Given the description of an element on the screen output the (x, y) to click on. 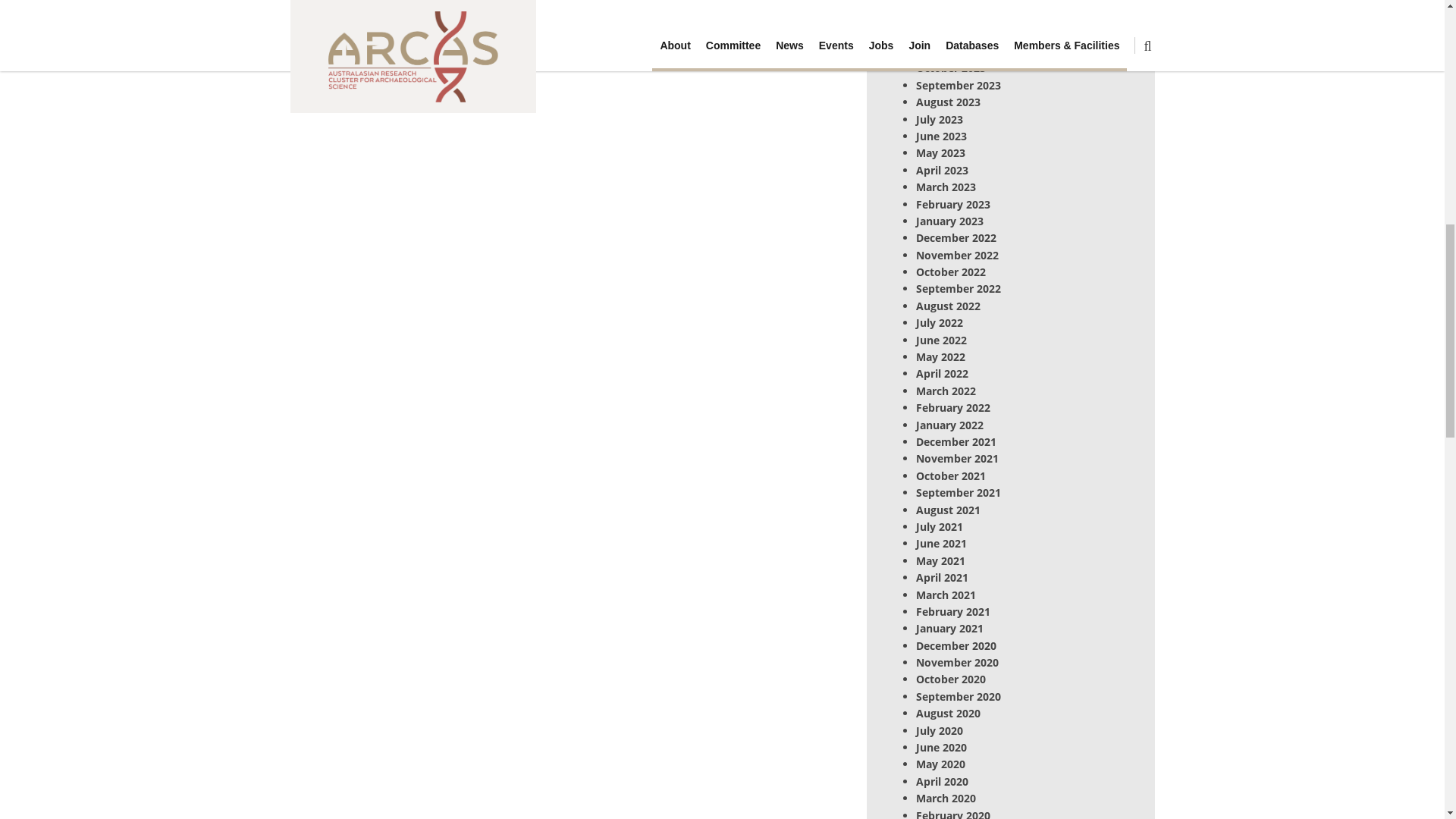
July 2023 (938, 119)
January 2023 (949, 220)
November 2023 (956, 51)
October 2022 (950, 271)
January 2024 (949, 16)
May 2023 (940, 152)
September 2023 (958, 84)
November 2022 (956, 255)
February 2023 (952, 204)
April 2023 (941, 169)
October 2023 (950, 67)
June 2023 (940, 135)
March 2023 (945, 186)
December 2022 (955, 237)
December 2023 (955, 34)
